Given the description of an element on the screen output the (x, y) to click on. 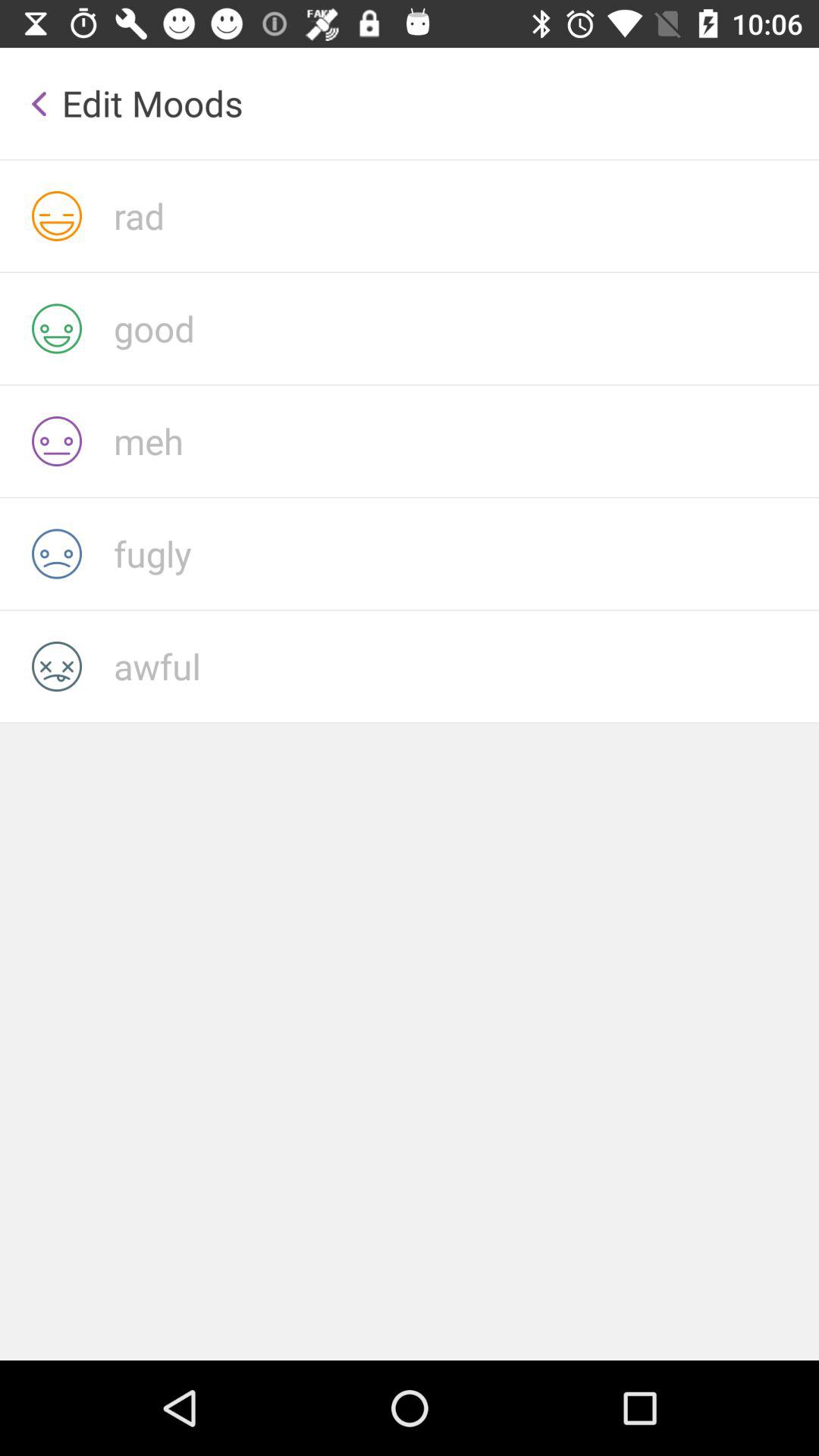
dissatisfied emoji (466, 441)
